Given the description of an element on the screen output the (x, y) to click on. 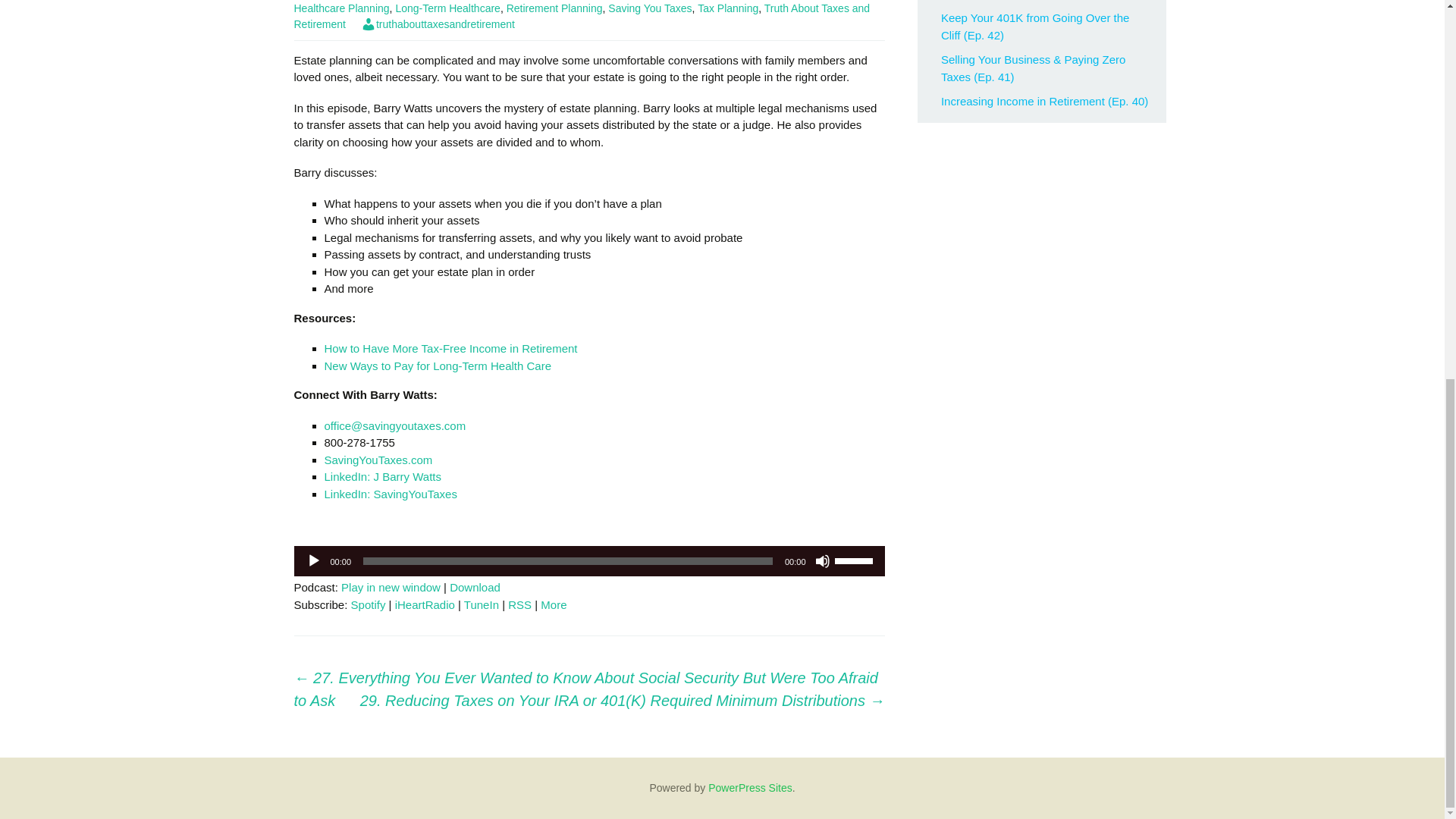
Truth About Taxes and Retirement (582, 16)
Play in new window (390, 586)
Download (474, 586)
Retirement Planning (554, 8)
New Ways to Pay for Long-Term Health Care (437, 365)
Healthcare Planning (342, 8)
Mute (821, 560)
Download (474, 586)
truthabouttaxesandretirement (438, 24)
TuneIn (481, 604)
Subscribe on iHeartRadio (424, 604)
How to Have More Tax-Free Income in Retirement (451, 348)
LinkedIn: J Barry Watts (383, 476)
More (553, 604)
Play (313, 560)
